Given the description of an element on the screen output the (x, y) to click on. 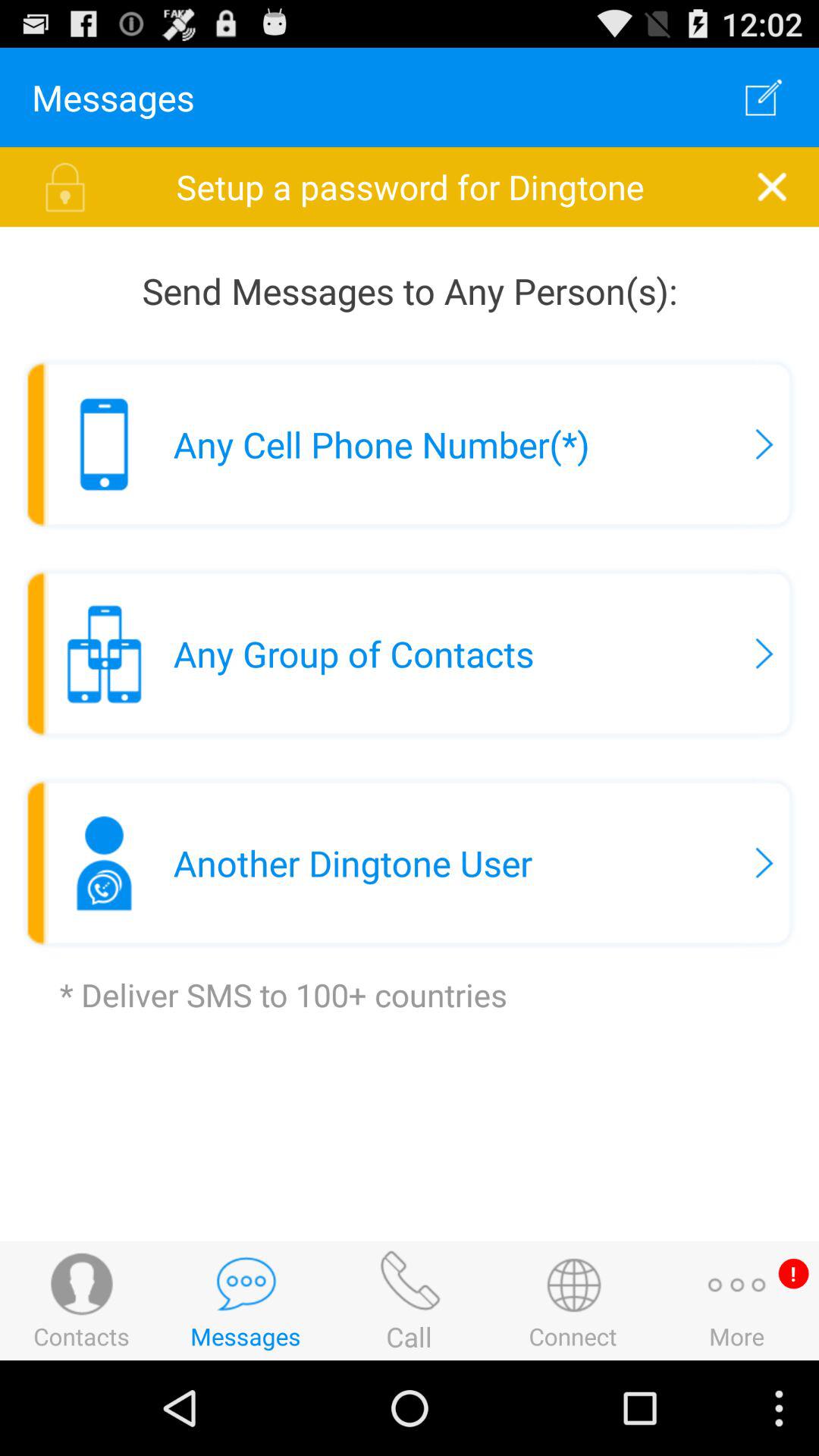
create a message (763, 97)
